Given the description of an element on the screen output the (x, y) to click on. 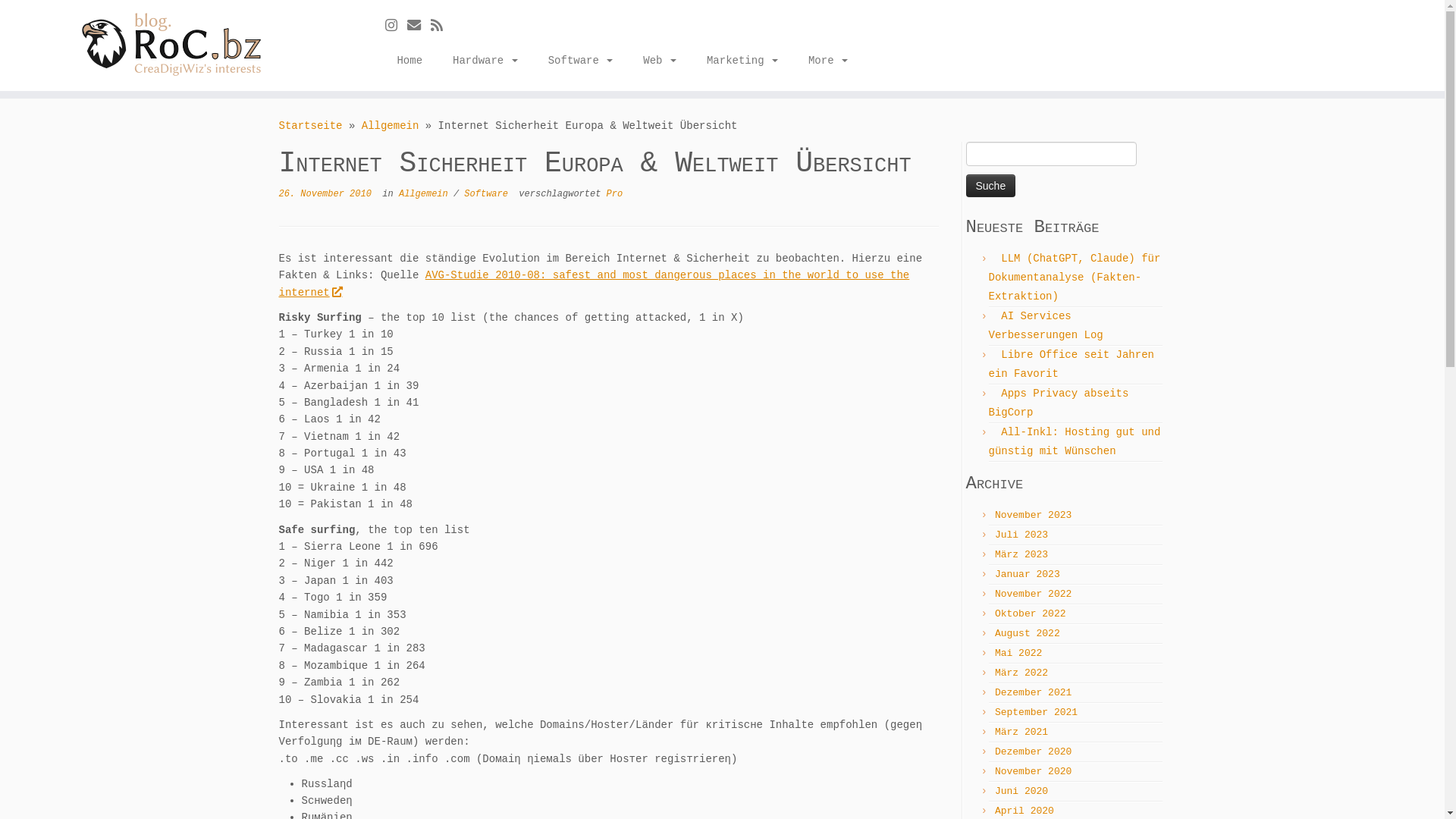
Allgemein Element type: text (390, 125)
Juni 2020 Element type: text (1021, 791)
November 2022 Element type: text (1032, 593)
26. November 2010 Element type: text (325, 193)
Januar 2023 Element type: text (1027, 574)
Startseite Element type: text (310, 125)
Pro Element type: text (614, 193)
Apps Privacy abseits BigCorp Element type: text (1058, 402)
Libre Office seit Jahren ein Favorit Element type: text (1071, 363)
Dezember 2021 Element type: text (1032, 692)
Folge uns auf Instagram Element type: hover (396, 26)
Allgemein Element type: text (425, 193)
April 2020 Element type: text (1024, 810)
Software Element type: text (488, 193)
September 2021 Element type: text (1035, 712)
Web Element type: text (659, 60)
Mai 2022 Element type: text (1017, 652)
Folge uns auf Email Element type: hover (418, 26)
August 2022 Element type: text (1027, 633)
Oktober 2022 Element type: text (1030, 613)
Hardware Element type: text (485, 60)
Suche Element type: text (991, 185)
Software Element type: text (580, 60)
More Element type: text (820, 60)
Dezember 2020 Element type: text (1032, 751)
AI Services Verbesserungen Log Element type: text (1045, 325)
Juli 2023 Element type: text (1021, 534)
Subscribe to my rss feed Element type: hover (441, 26)
Home Element type: text (409, 60)
November 2020 Element type: text (1032, 771)
Marketing Element type: text (742, 60)
November 2023 Element type: text (1032, 514)
